Given the description of an element on the screen output the (x, y) to click on. 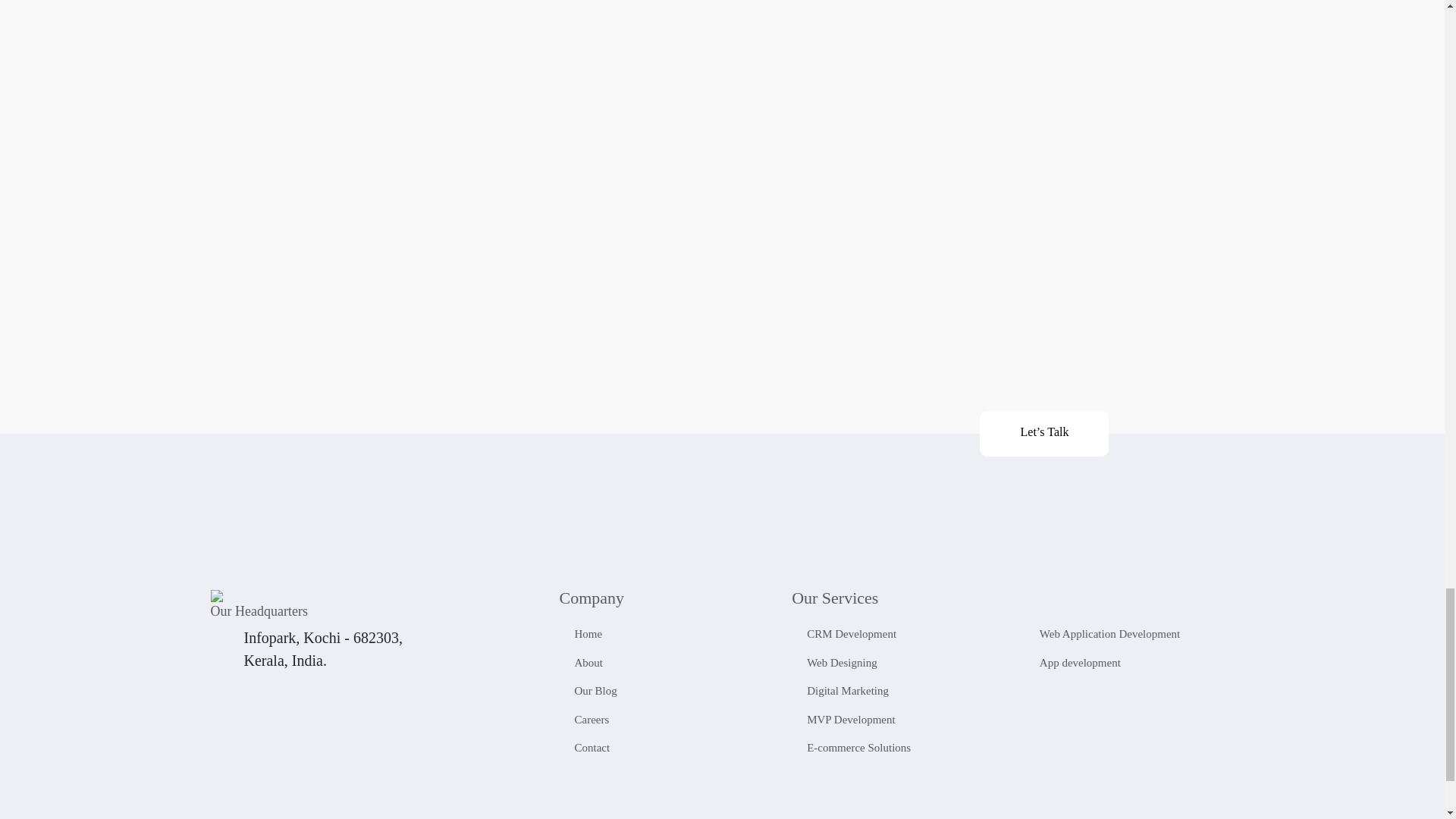
Home (663, 633)
About (663, 662)
